Given the description of an element on the screen output the (x, y) to click on. 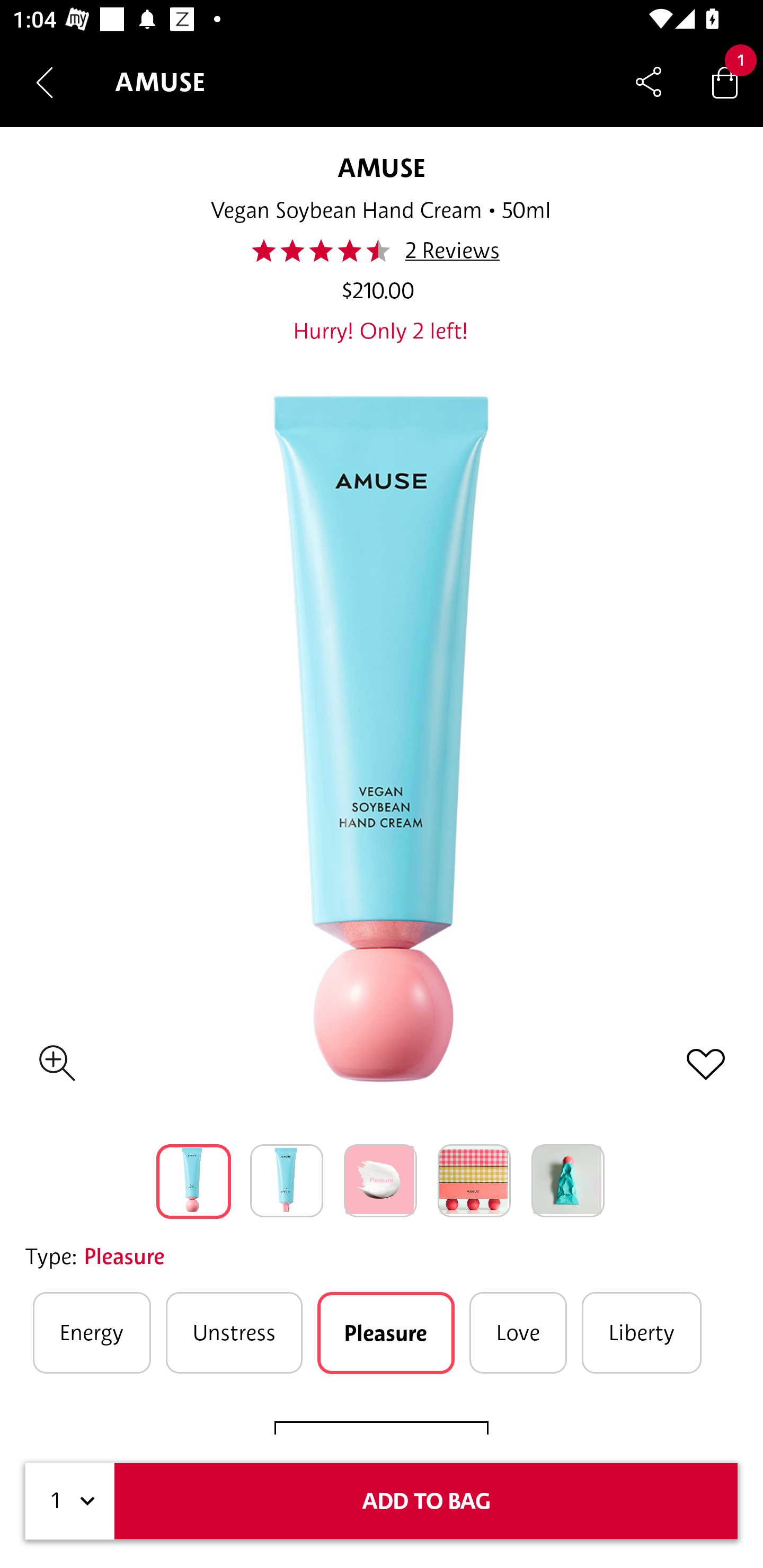
Navigate up (44, 82)
Share (648, 81)
Bag (724, 81)
AMUSE (380, 167)
45.0 2 Reviews (380, 250)
Energy (91, 1332)
Unstress (233, 1332)
Pleasure (385, 1332)
Love (517, 1332)
Liberty (641, 1332)
1 (69, 1500)
ADD TO BAG (425, 1500)
